Given the description of an element on the screen output the (x, y) to click on. 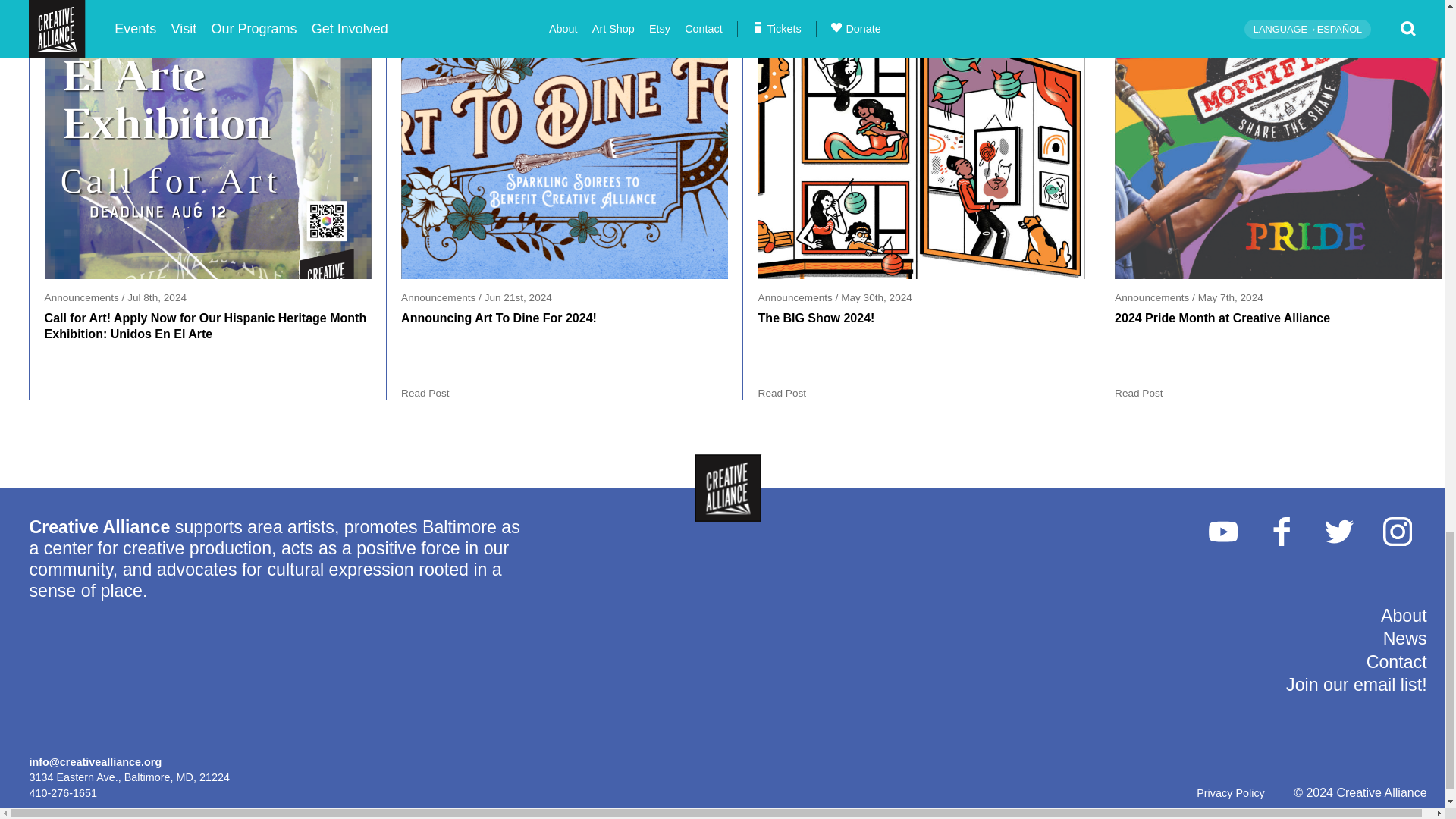
The BIG Show 2024! (921, 139)
Announcing Art To Dine For 2024! (564, 139)
2024 Pride Month at Creative Alliance (1278, 139)
